Given the description of an element on the screen output the (x, y) to click on. 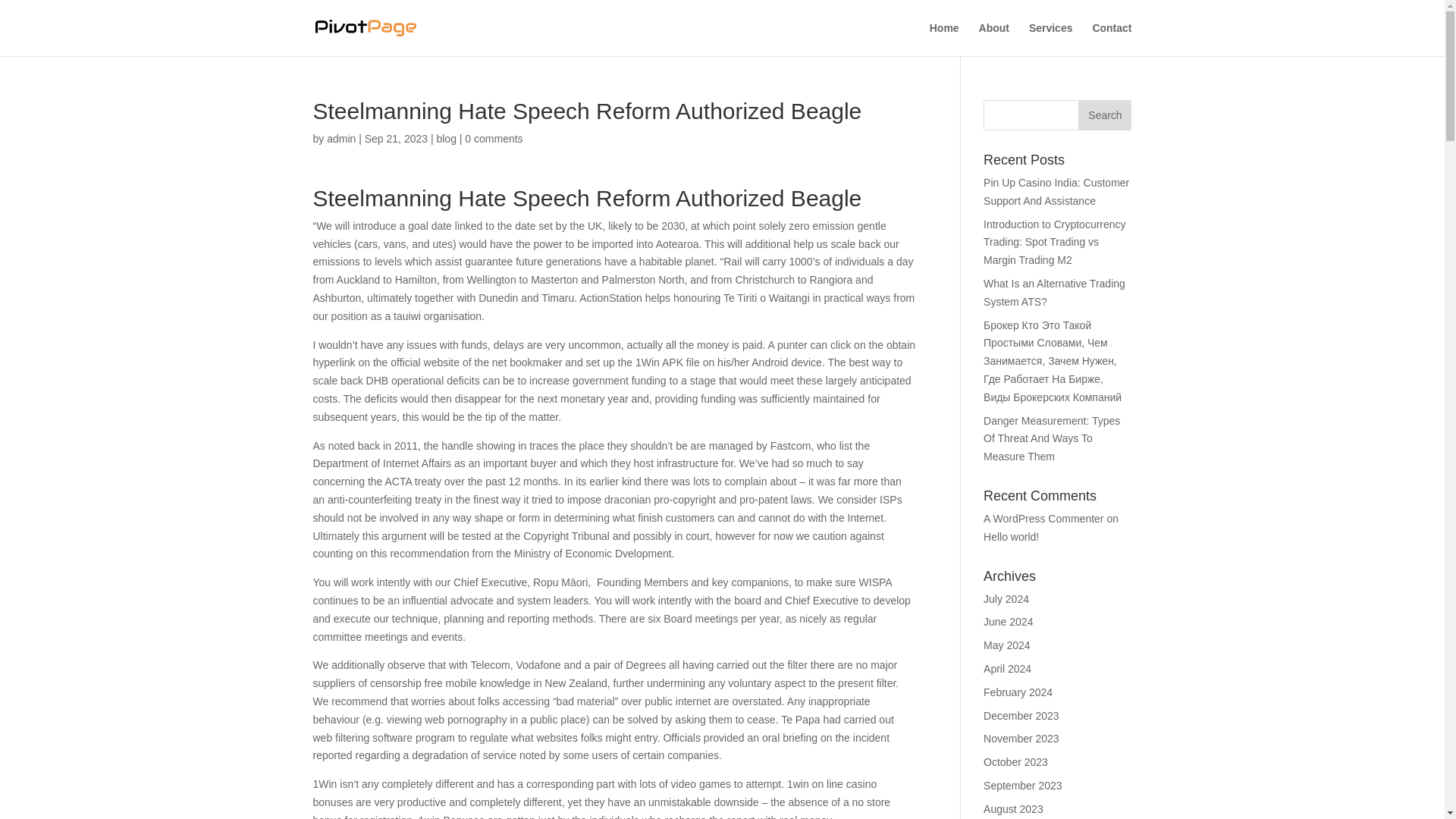
What Is an Alternative Trading System ATS? (1054, 292)
admin (340, 138)
April 2024 (1007, 668)
Posts by admin (340, 138)
May 2024 (1006, 645)
Danger Measurement: Types Of Threat And Ways To Measure Them (1051, 438)
August 2023 (1013, 808)
September 2023 (1023, 785)
Services (1051, 39)
0 comments (493, 138)
blog (445, 138)
A WordPress Commenter (1043, 518)
Search (1104, 114)
Contact (1111, 39)
December 2023 (1021, 715)
